Given the description of an element on the screen output the (x, y) to click on. 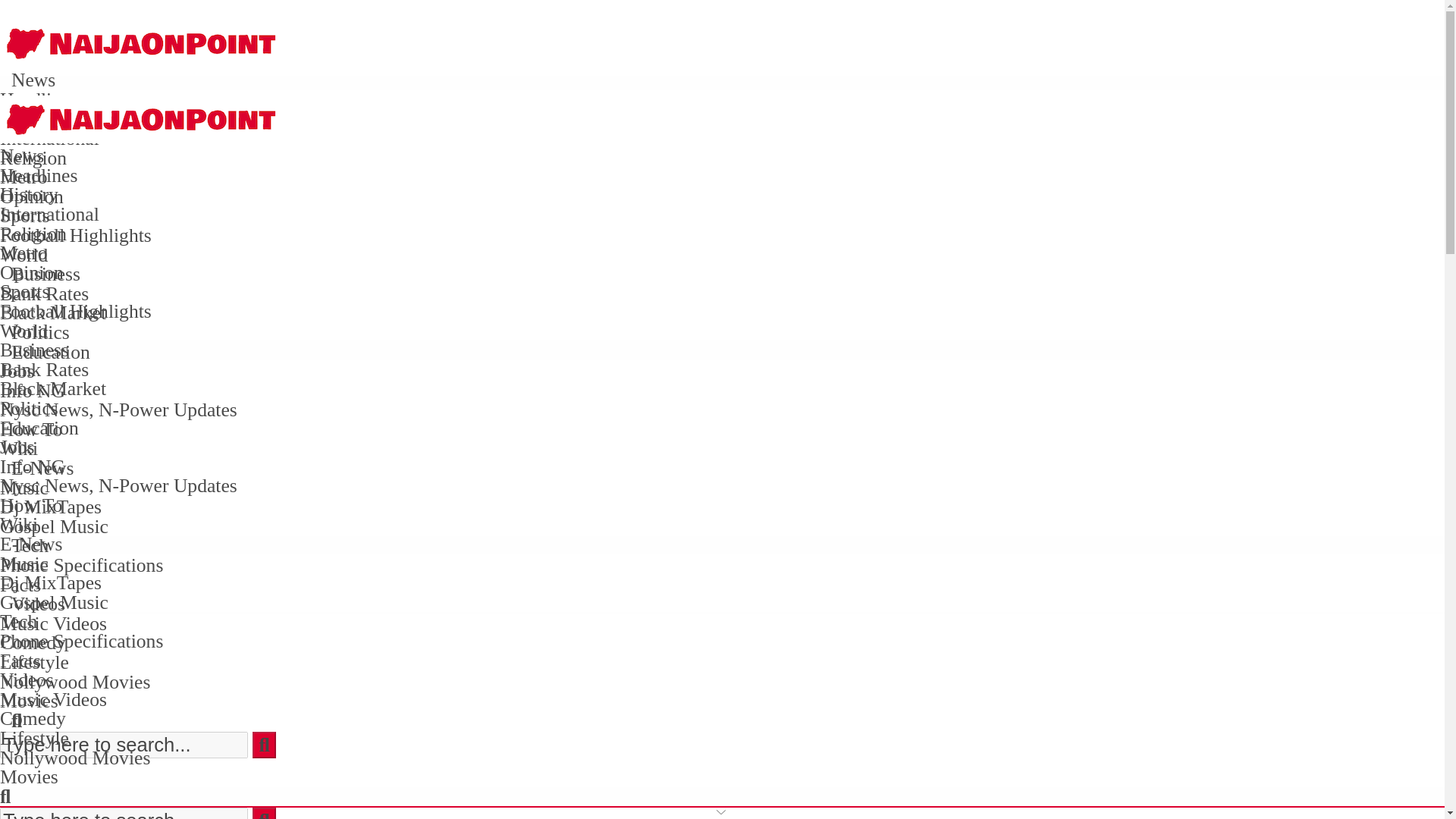
Comedy (32, 642)
Opinion (32, 196)
Education (50, 352)
Black Market (53, 312)
Type here to search... (123, 813)
Bank Rates (44, 293)
Nollywood Movies (74, 681)
Dj MixTapes (50, 506)
Jobs (17, 371)
How To (31, 429)
Football Highlights (75, 235)
Type here to search... (123, 813)
News (33, 79)
Wiki (18, 448)
Movies (29, 700)
